Given the description of an element on the screen output the (x, y) to click on. 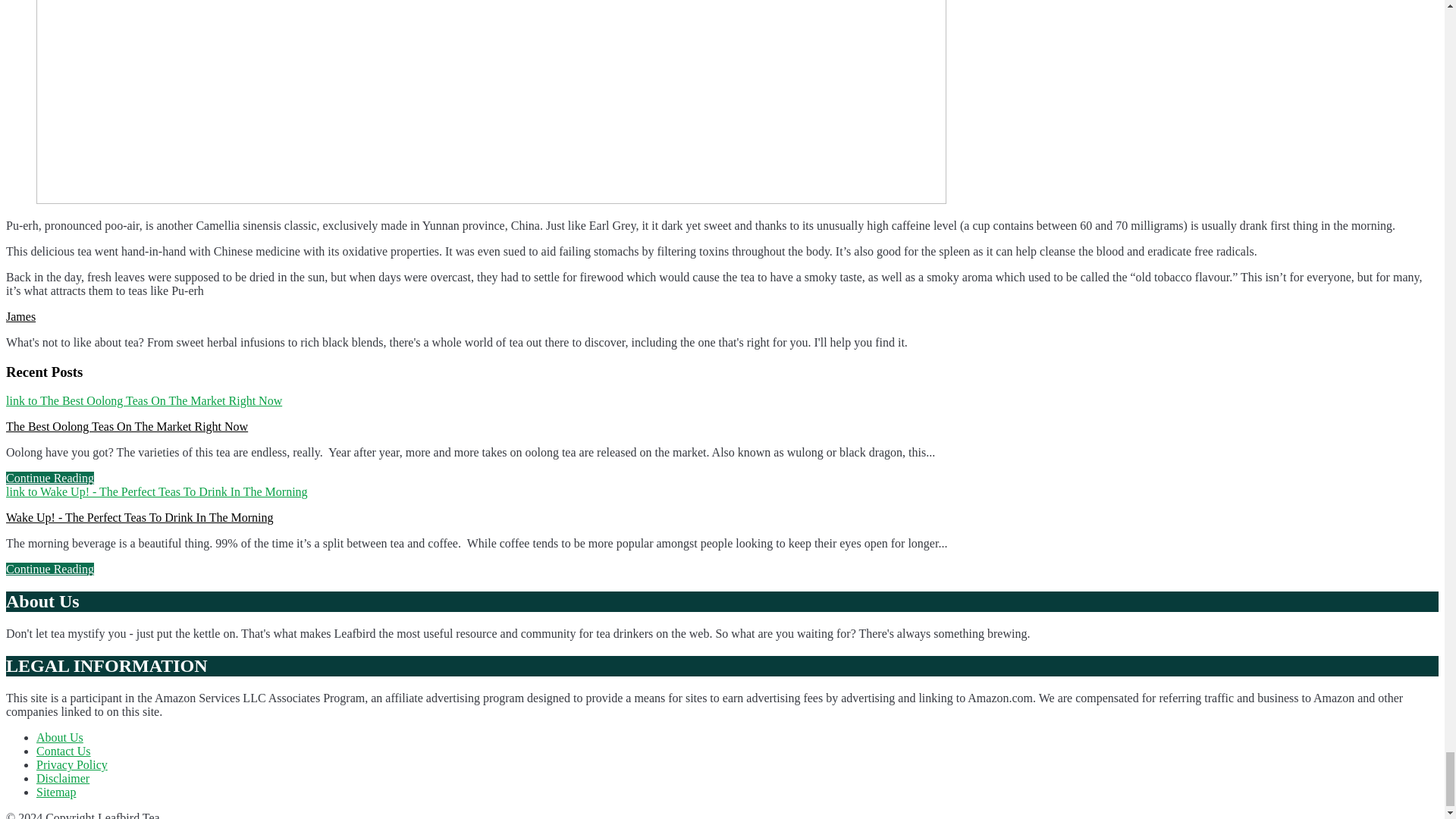
The Best Oolong Teas On The Market Right Now (126, 426)
Wake Up! - The Perfect Teas To Drink In The Morning (139, 517)
Sitemap (55, 791)
James (19, 316)
Continue Reading (49, 477)
Privacy Policy (71, 764)
About Us (59, 737)
Continue Reading (49, 568)
Contact Us (63, 750)
Disclaimer (62, 778)
